Given the description of an element on the screen output the (x, y) to click on. 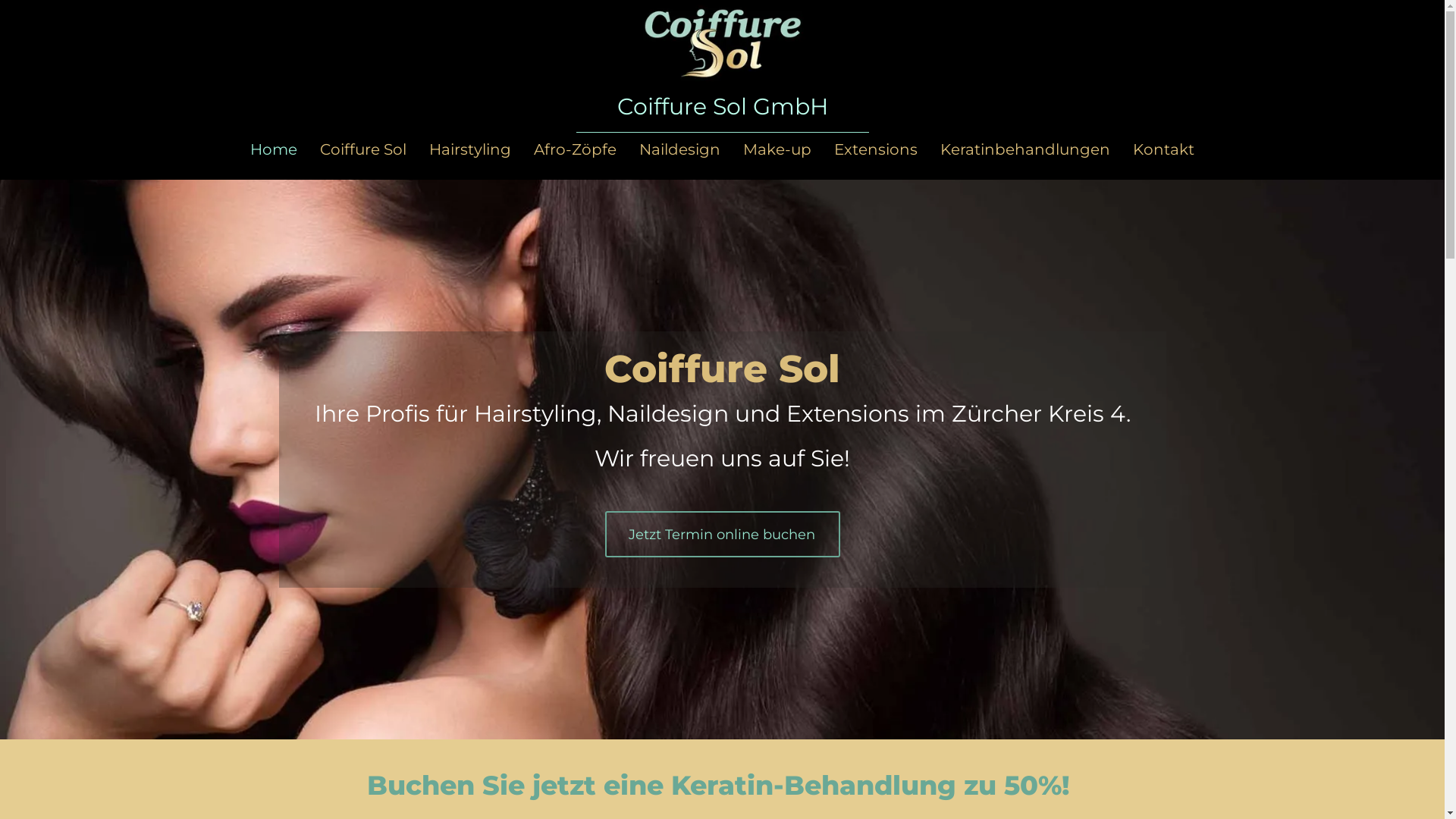
Coiffure Sol GmbH Element type: text (722, 106)
Make-up Element type: text (777, 149)
Kontakt Element type: text (1163, 149)
Coiffure Sol Element type: text (363, 149)
Jetzt Termin online buchen Element type: text (722, 534)
Keratinbehandlungen Element type: text (1025, 149)
Naildesign Element type: text (679, 149)
Home Element type: text (273, 149)
Hairstyling Element type: text (470, 149)
Extensions Element type: text (875, 149)
